Given the description of an element on the screen output the (x, y) to click on. 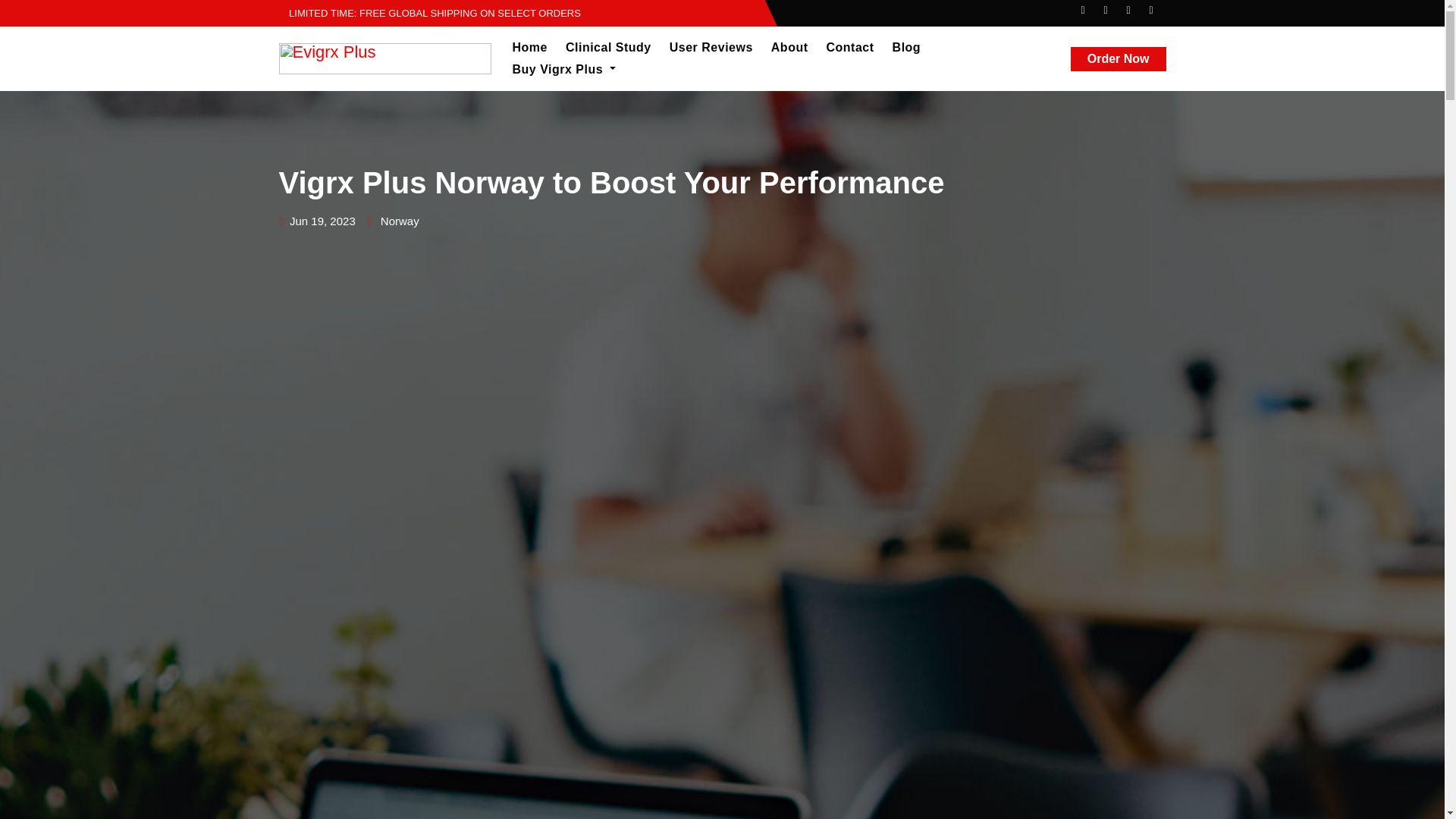
User Reviews (711, 47)
Contact (849, 47)
User Reviews (711, 47)
Home (529, 47)
Clinical Study (608, 47)
Blog (906, 47)
Contact (849, 47)
Buy Vigrx Plus (564, 69)
Home (529, 47)
About (788, 47)
Blog (906, 47)
Norway (399, 221)
LIMITED TIME: FREE GLOBAL SHIPPING ON SELECT ORDERS (429, 12)
Order Now (1118, 58)
Clinical Study (608, 47)
